Given the description of an element on the screen output the (x, y) to click on. 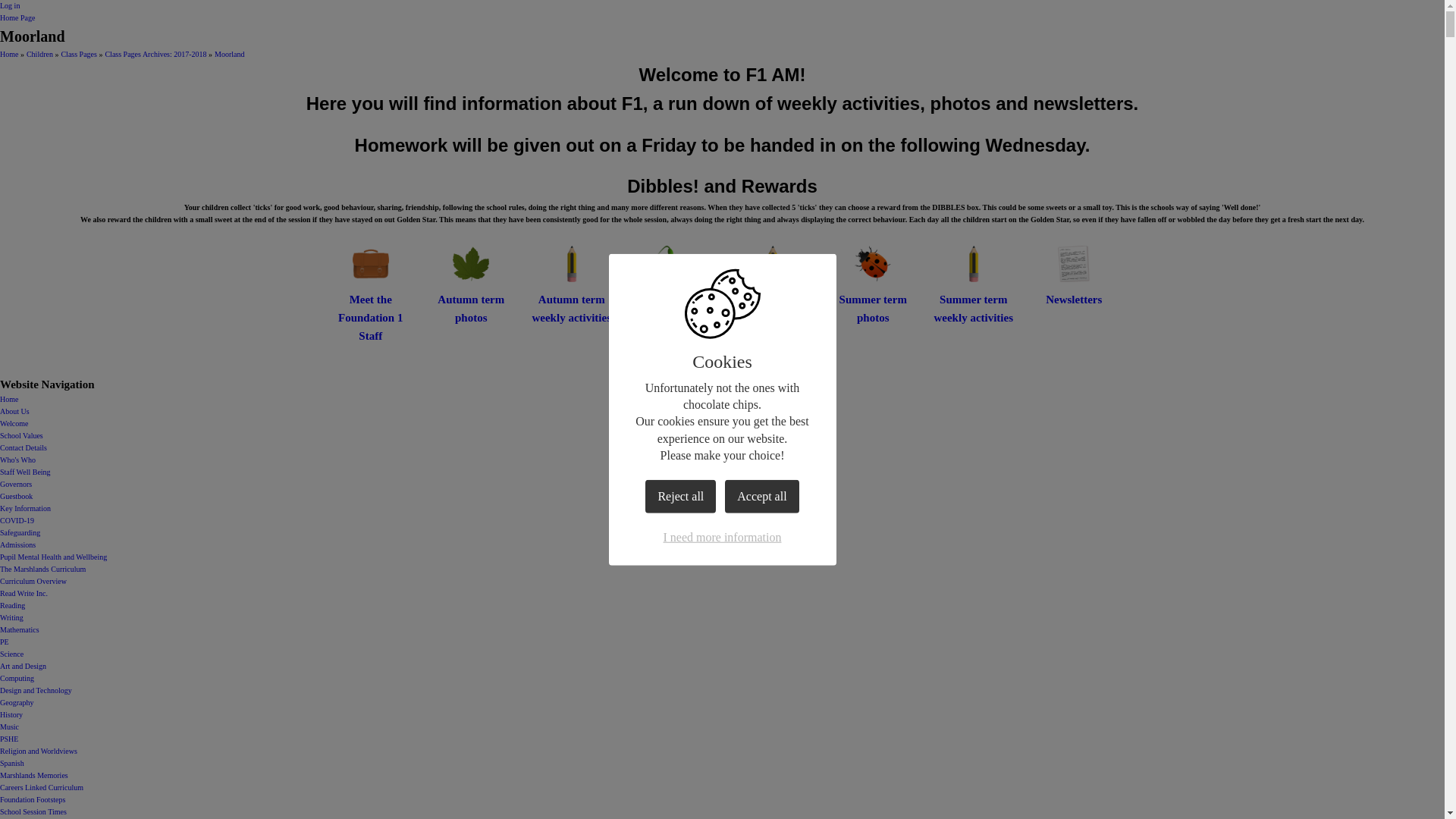
About Us (14, 411)
Home Page (17, 17)
School Values (21, 435)
Home (8, 398)
Who's Who (17, 459)
Pupil Mental Health and Wellbeing (53, 556)
COVID-19 (16, 520)
Governors (16, 483)
Guestbook (16, 496)
Newsletters (1073, 274)
Computing (16, 678)
Welcome (14, 423)
Admissions (17, 544)
Key Information (25, 508)
Class Pages (79, 53)
